Given the description of an element on the screen output the (x, y) to click on. 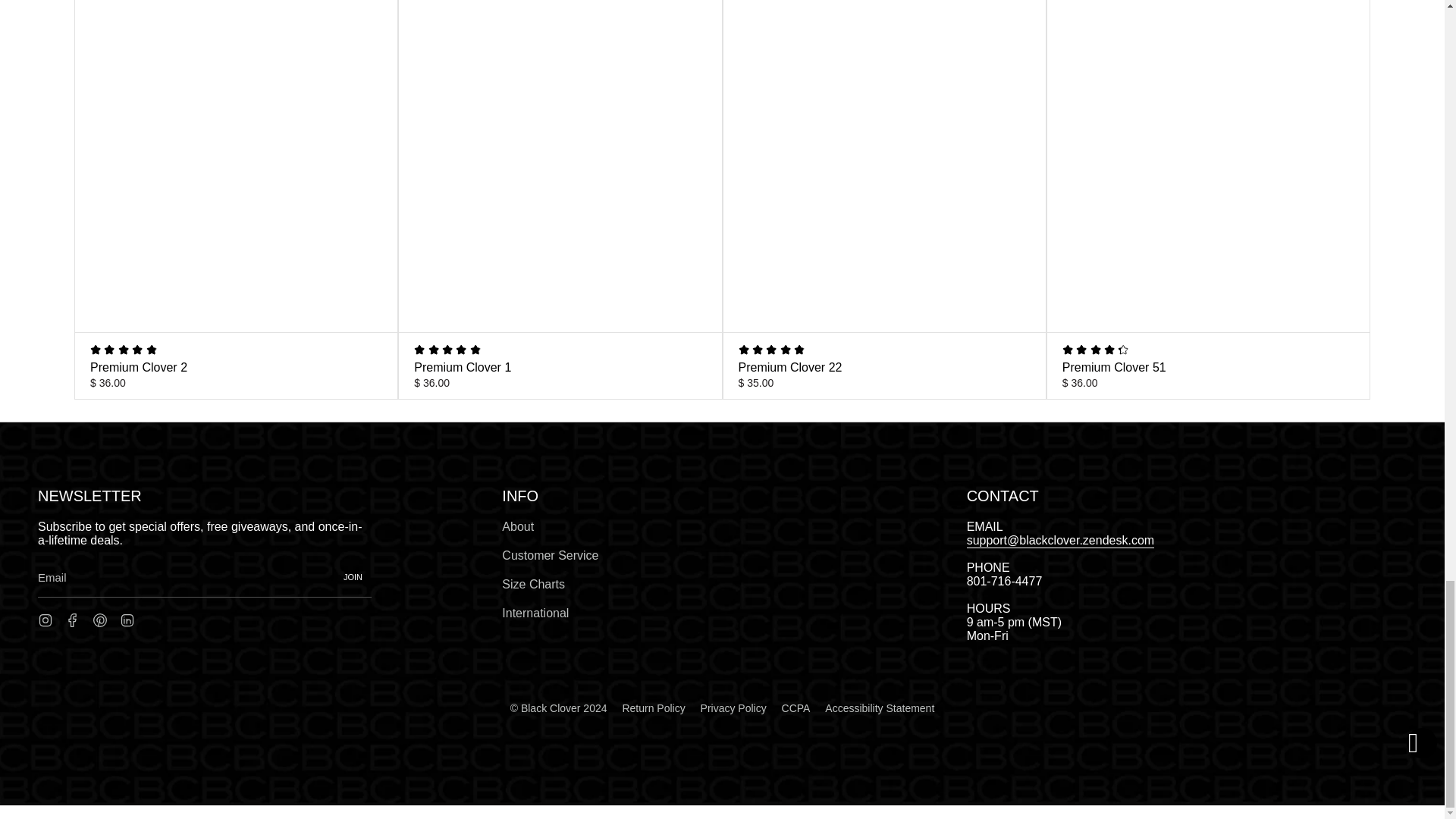
Black Clover on Instagram (44, 618)
Black Clover on Linkedin (127, 618)
Black Clover on Facebook (72, 618)
Black Clover on Pinterest (100, 618)
